Given the description of an element on the screen output the (x, y) to click on. 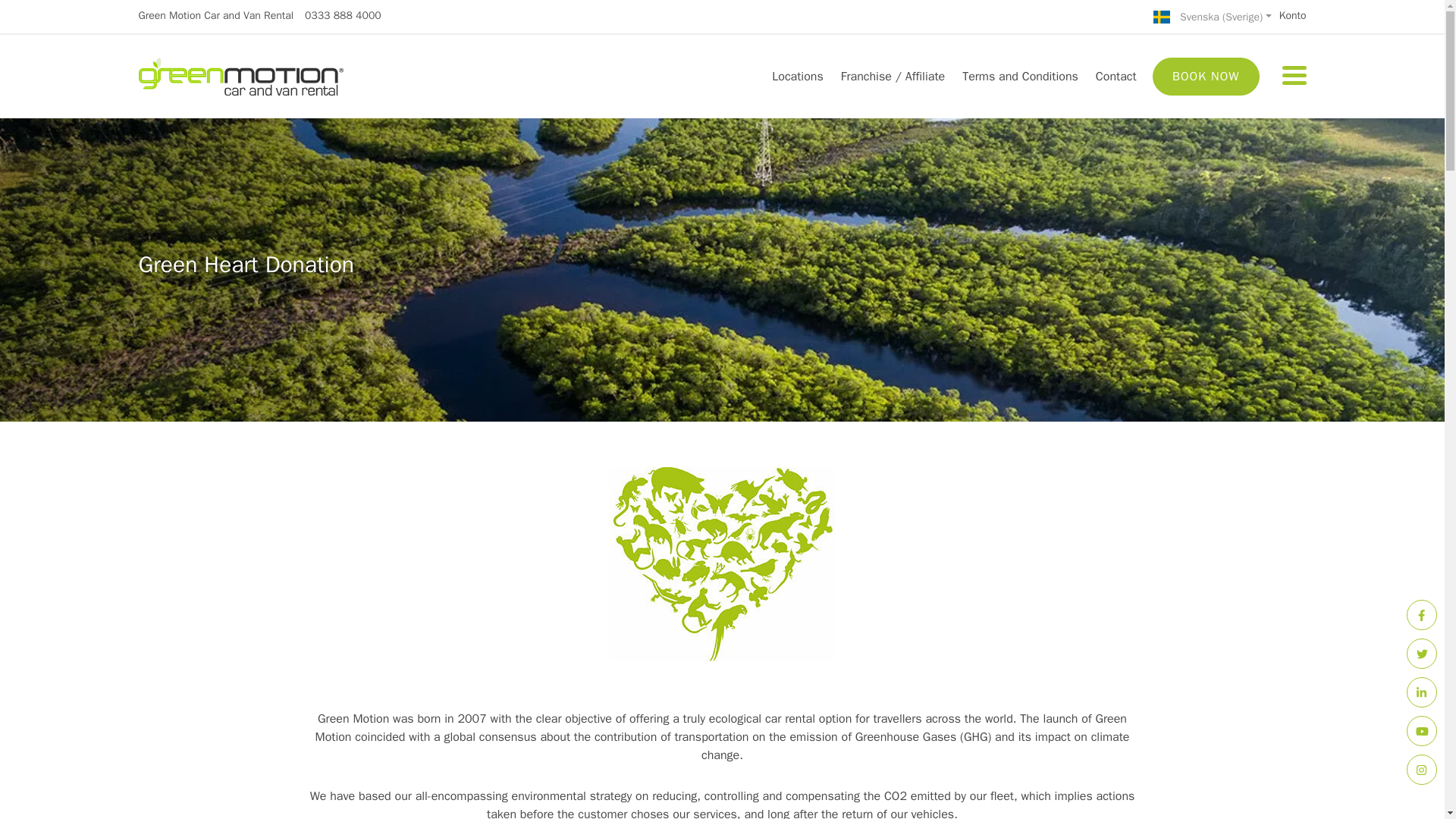
Contact (1115, 76)
Locations (796, 76)
0333 888 4000 (342, 15)
Konto (1292, 15)
Green Motion Car and Van Rental (216, 15)
Terms and Conditions (1020, 76)
BOOK NOW (1205, 76)
